Given the description of an element on the screen output the (x, y) to click on. 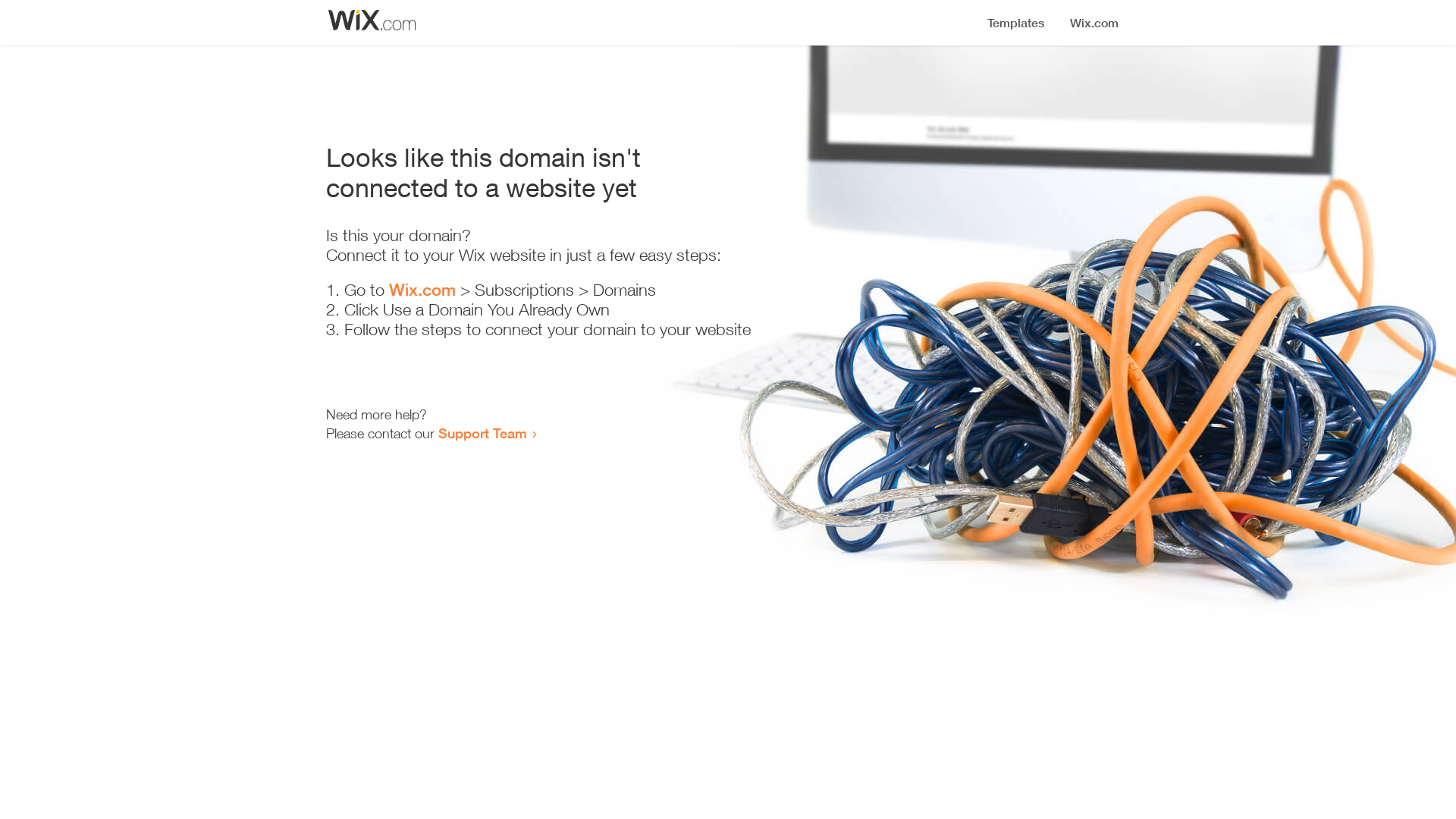
Support Team Element type: text (482, 432)
Wix.com Element type: text (422, 289)
